Given the description of an element on the screen output the (x, y) to click on. 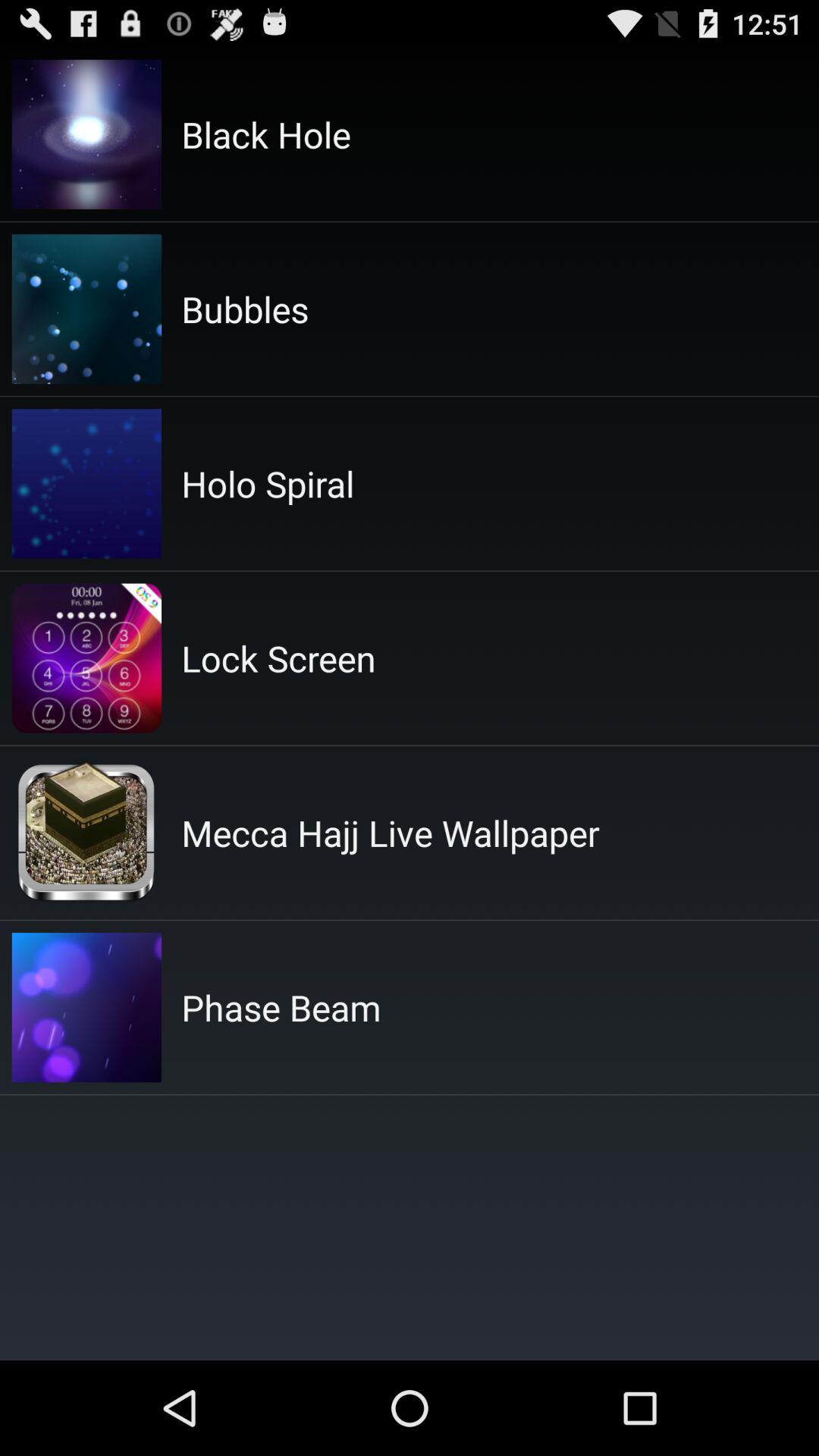
press item above the phase beam app (390, 832)
